Given the description of an element on the screen output the (x, y) to click on. 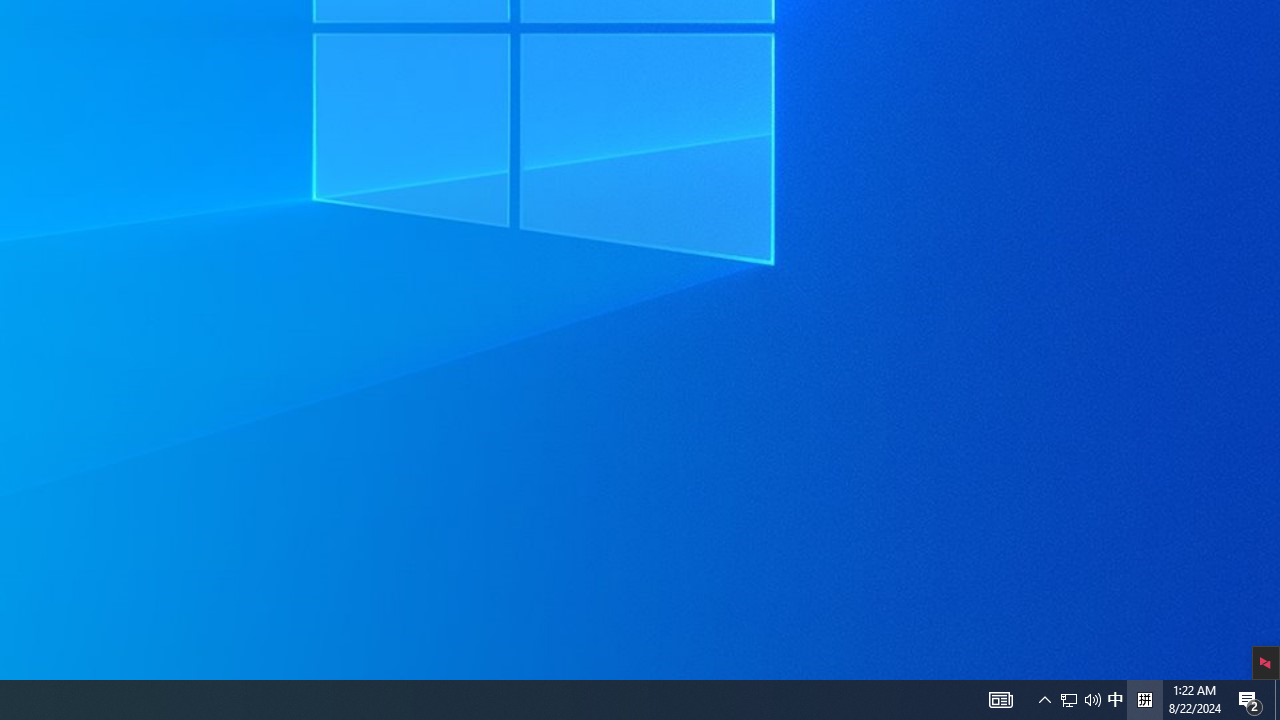
Q2790: 100% (1092, 699)
Notification Chevron (1044, 699)
Show desktop (1069, 699)
Tray Input Indicator - Chinese (Simplified, China) (1277, 699)
AutomationID: 4105 (1144, 699)
User Promoted Notification Area (1000, 699)
Action Center, 2 new notifications (1080, 699)
